Given the description of an element on the screen output the (x, y) to click on. 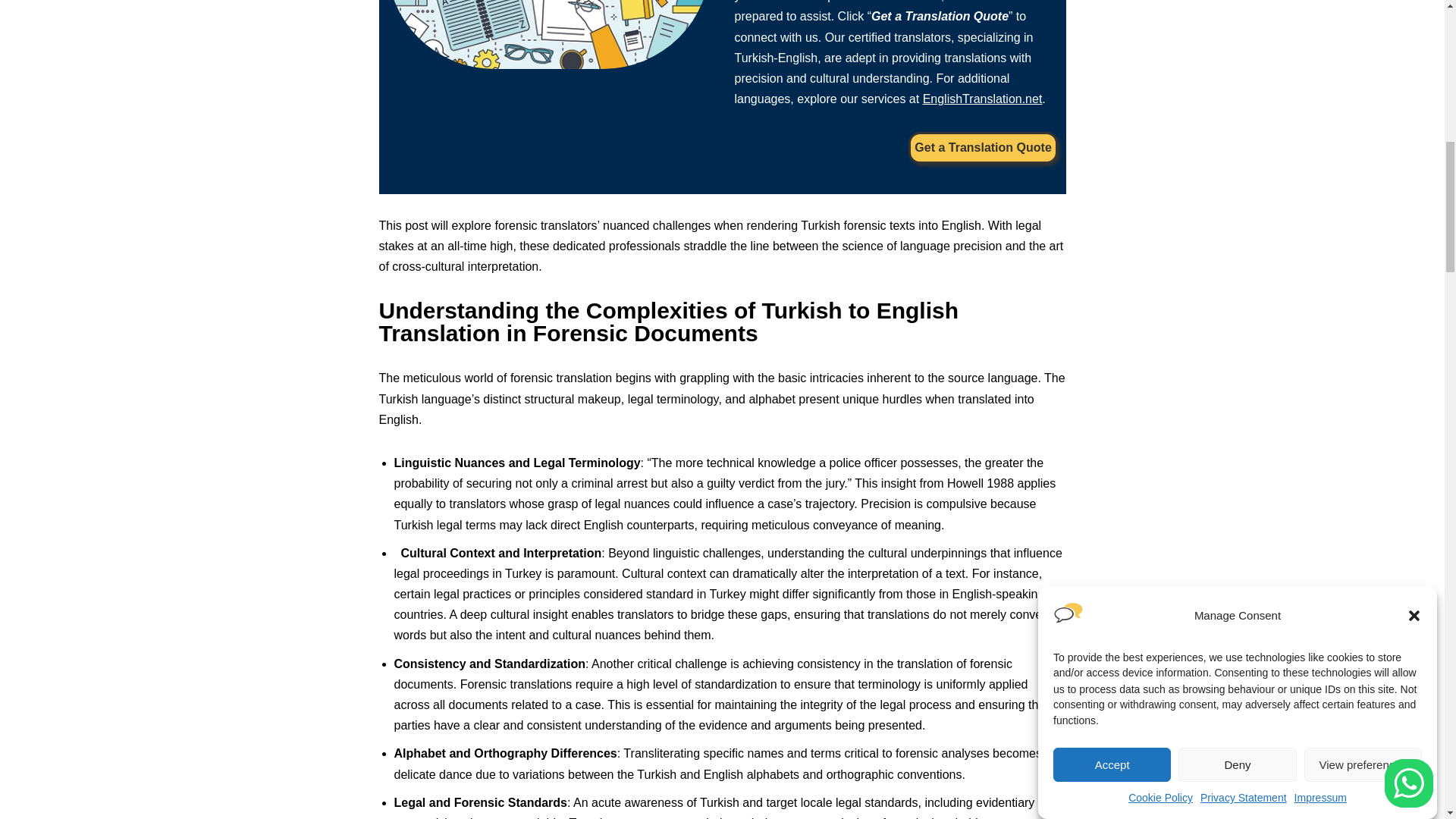
View preferences (1363, 85)
Cookie Policy (1160, 67)
Privacy Statement (1243, 60)
Deny (1236, 107)
Accept (1111, 132)
Impressum (1320, 54)
